Given the description of an element on the screen output the (x, y) to click on. 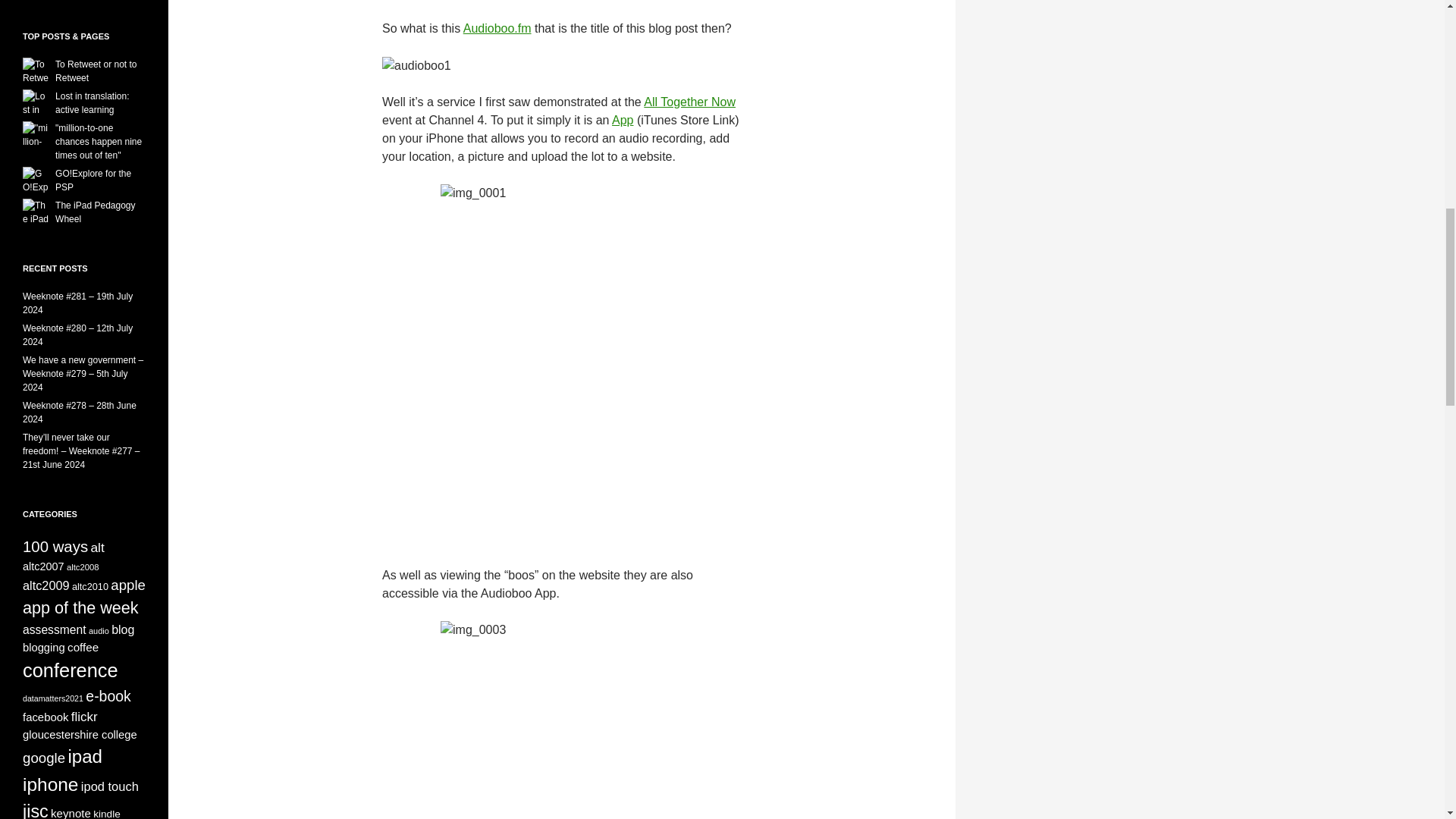
Audioboo.fm (497, 28)
App (622, 119)
All Together Now (689, 101)
audioboo1 (416, 65)
To Retweet or not to Retweet (95, 70)
